Given the description of an element on the screen output the (x, y) to click on. 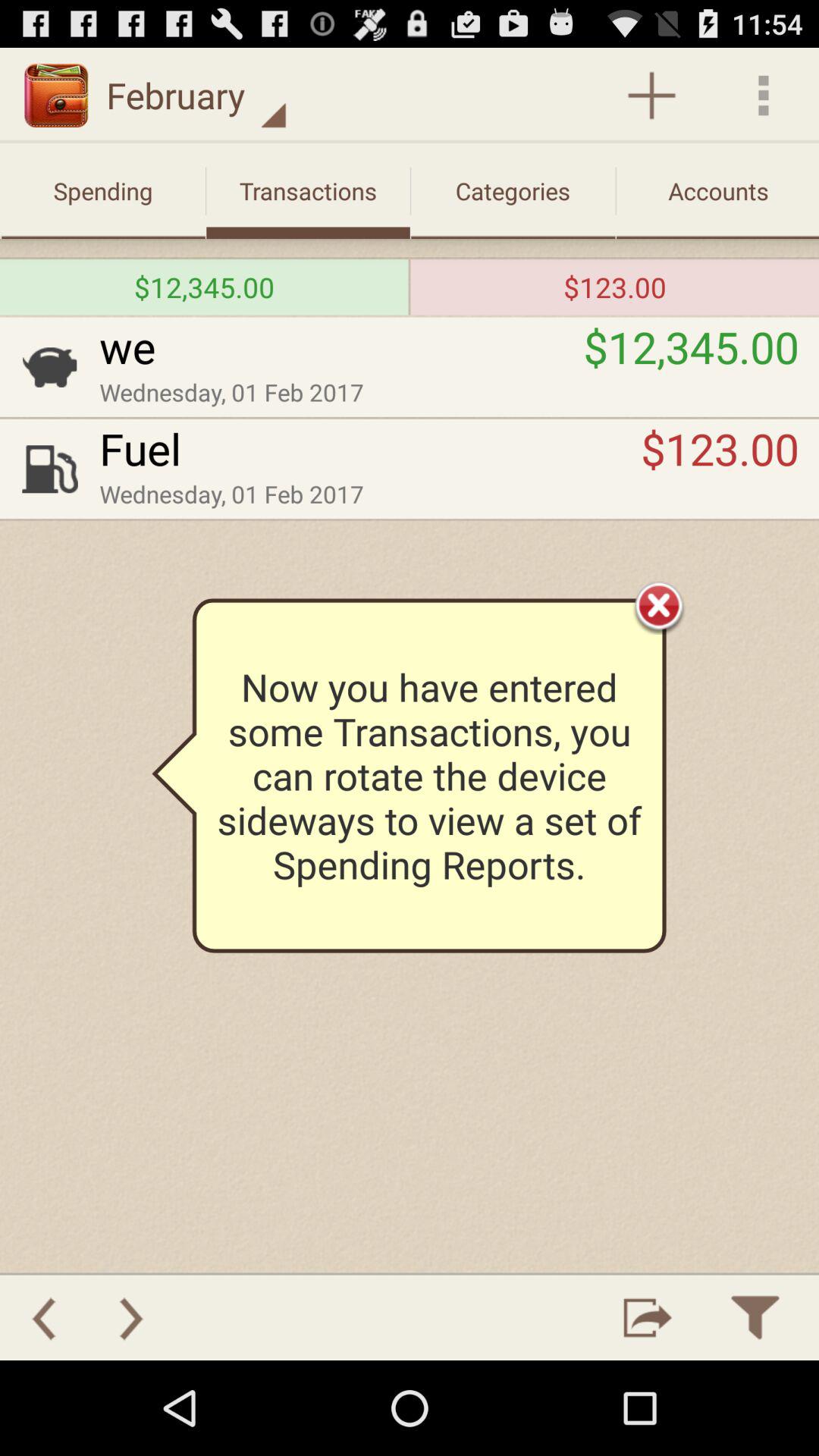
click item to the left of $123.00 icon (369, 448)
